Given the description of an element on the screen output the (x, y) to click on. 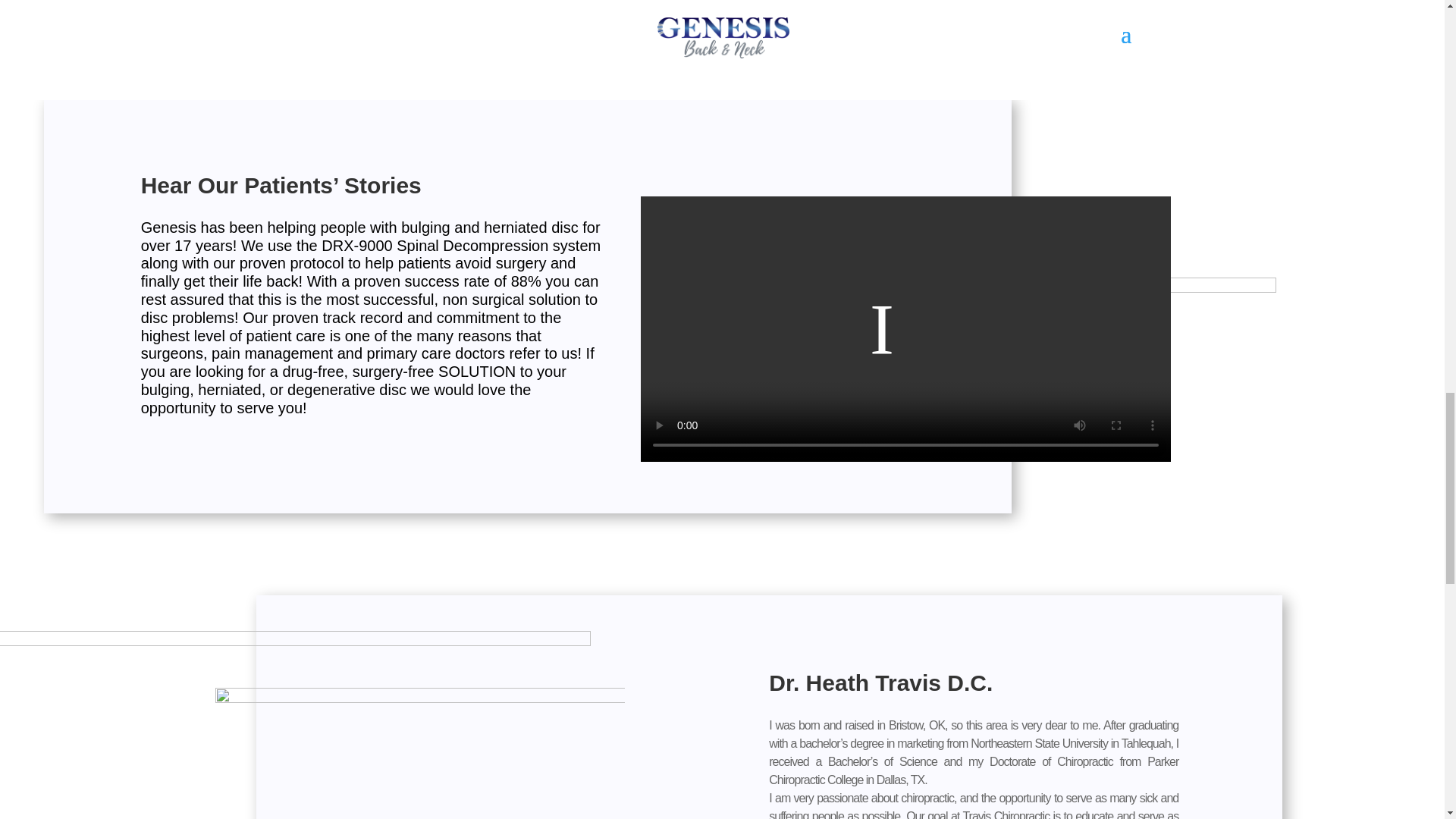
genesis-back-dr-travis (419, 753)
Rectangle 18 (295, 724)
